Given the description of an element on the screen output the (x, y) to click on. 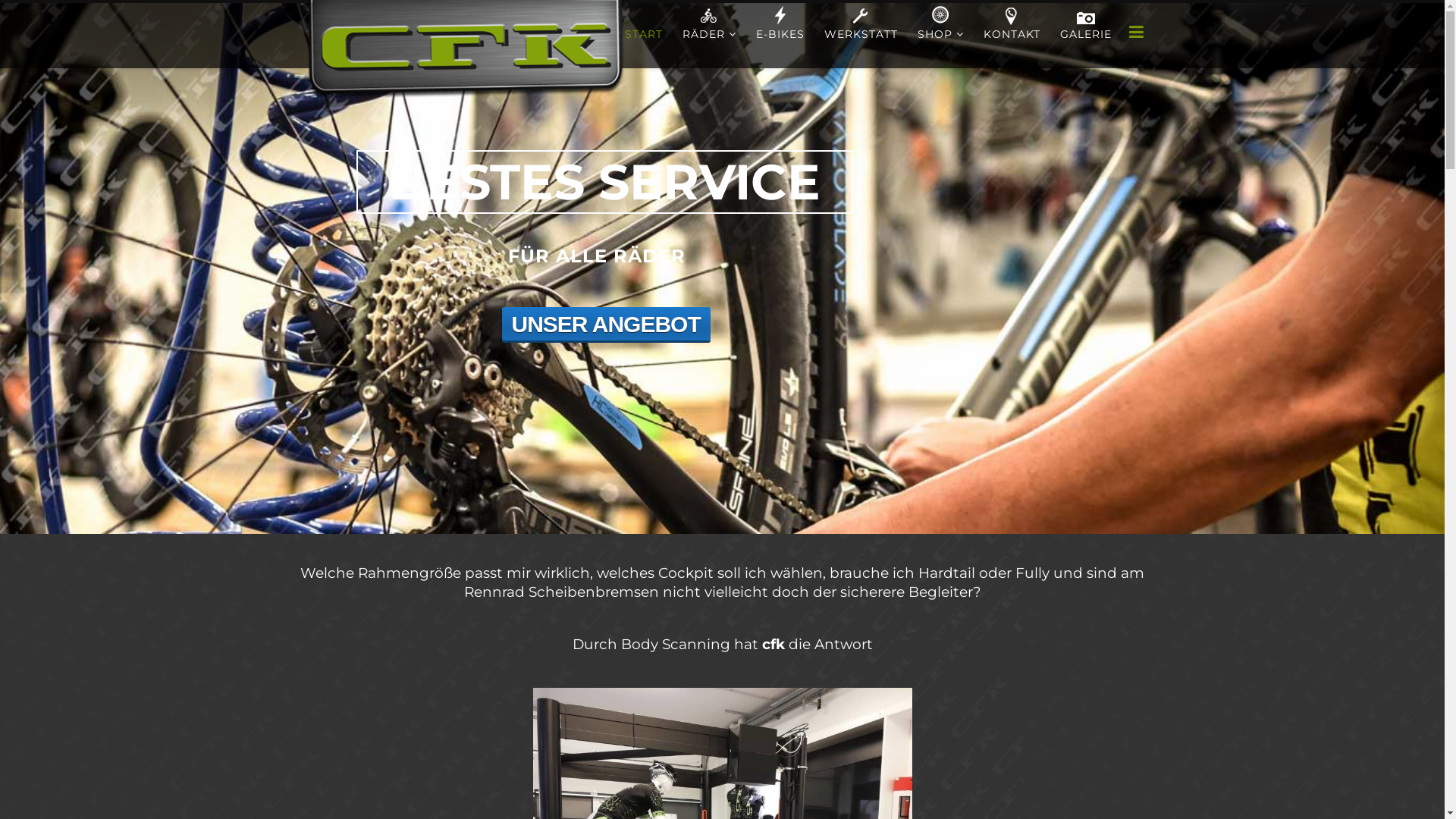
WERKSTATT Element type: text (860, 34)
GALERIE Element type: text (1084, 34)
START Element type: text (642, 34)
KONTAKT Element type: text (1011, 34)
E-BIKES Element type: text (780, 34)
SHOP Element type: text (939, 34)
UNSER ANGEBOT Element type: text (606, 323)
